Given the description of an element on the screen output the (x, y) to click on. 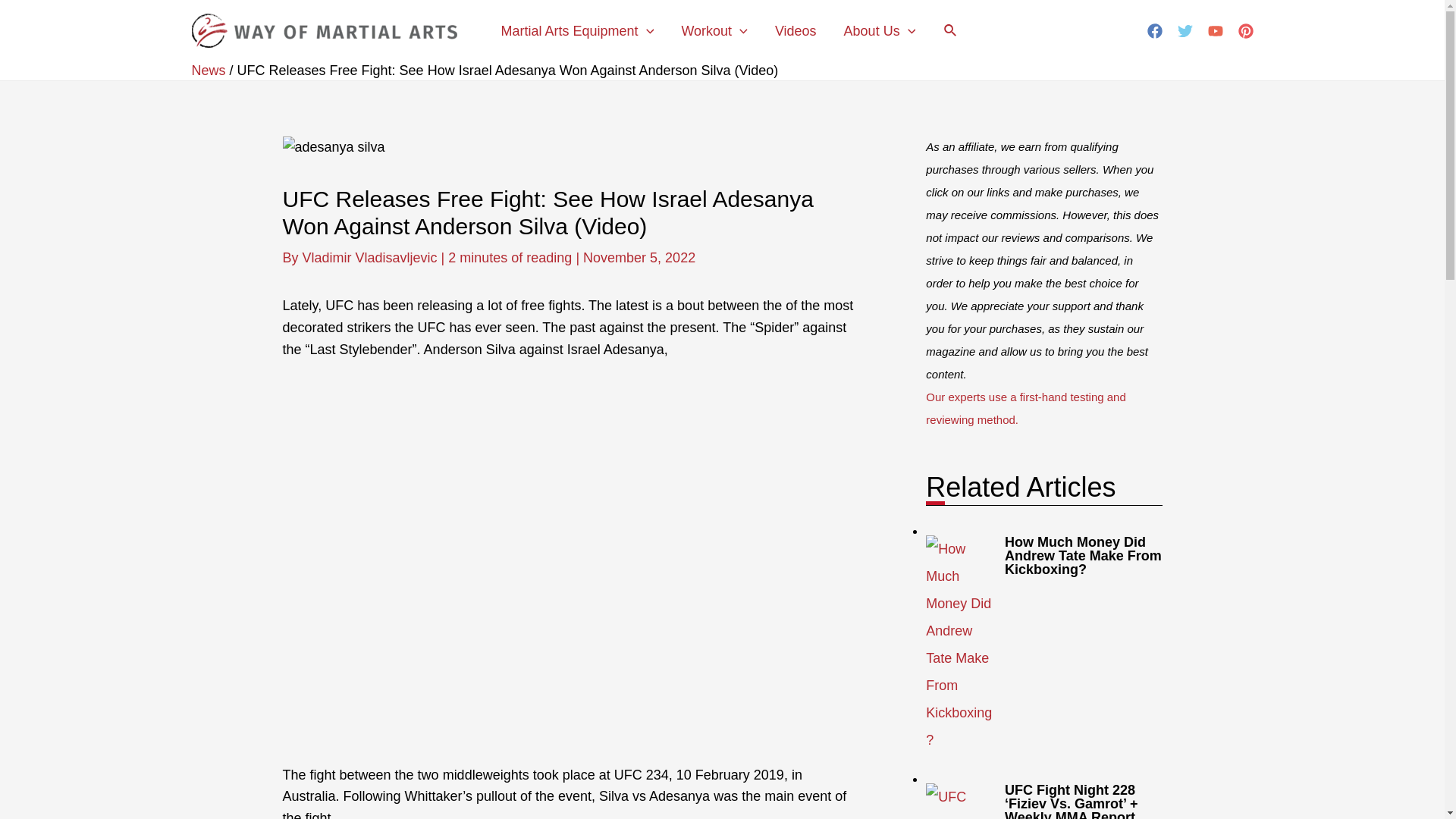
Martial Arts Equipment (576, 30)
News (207, 70)
About Us (879, 30)
Videos (795, 30)
View all posts by Vladimir Vladisavljevic (371, 257)
Workout (713, 30)
